Given the description of an element on the screen output the (x, y) to click on. 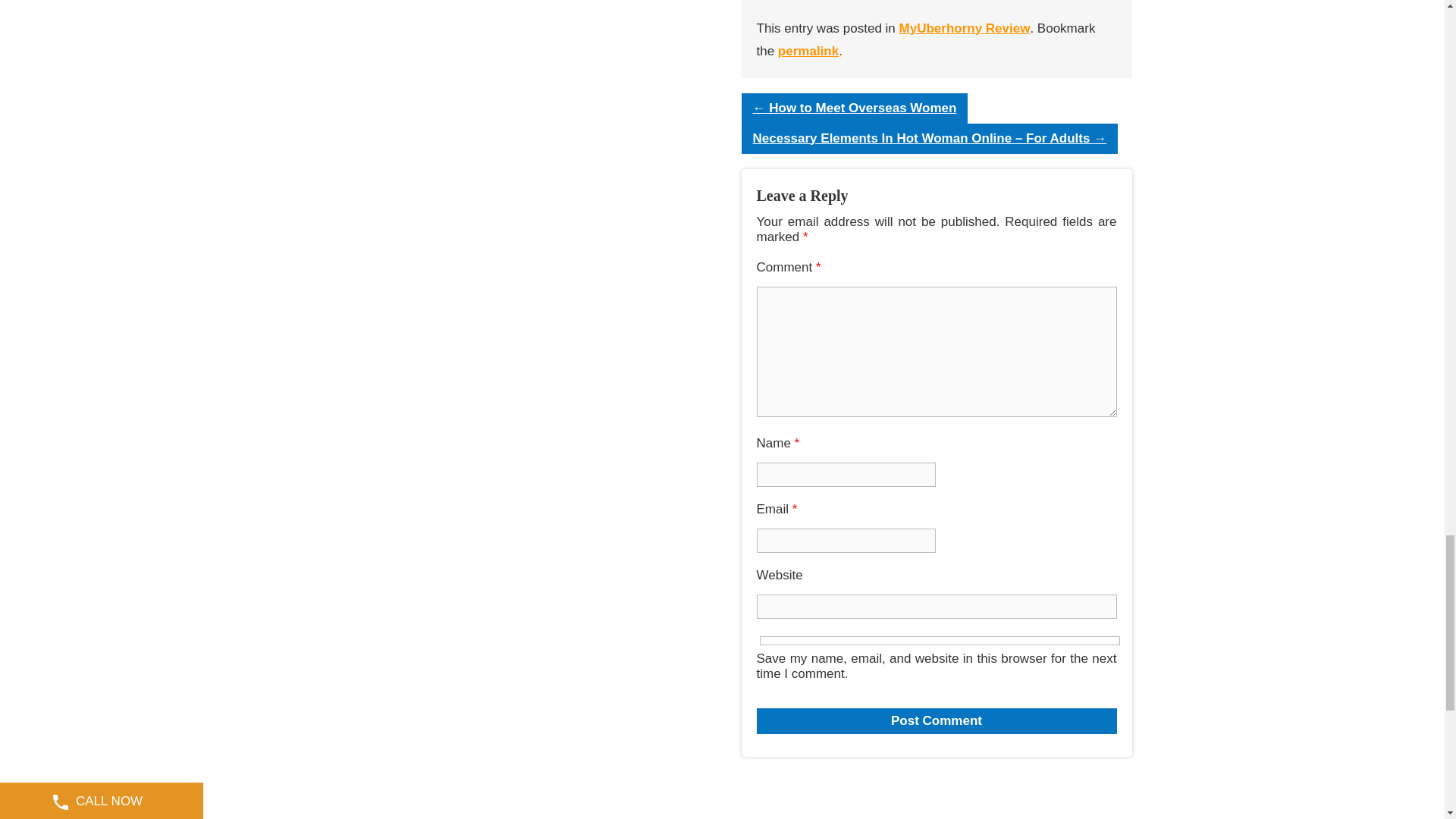
MyUberhorny Review (964, 28)
permalink (807, 51)
Post Comment (936, 720)
Post Comment (936, 720)
yes (939, 639)
